Given the description of an element on the screen output the (x, y) to click on. 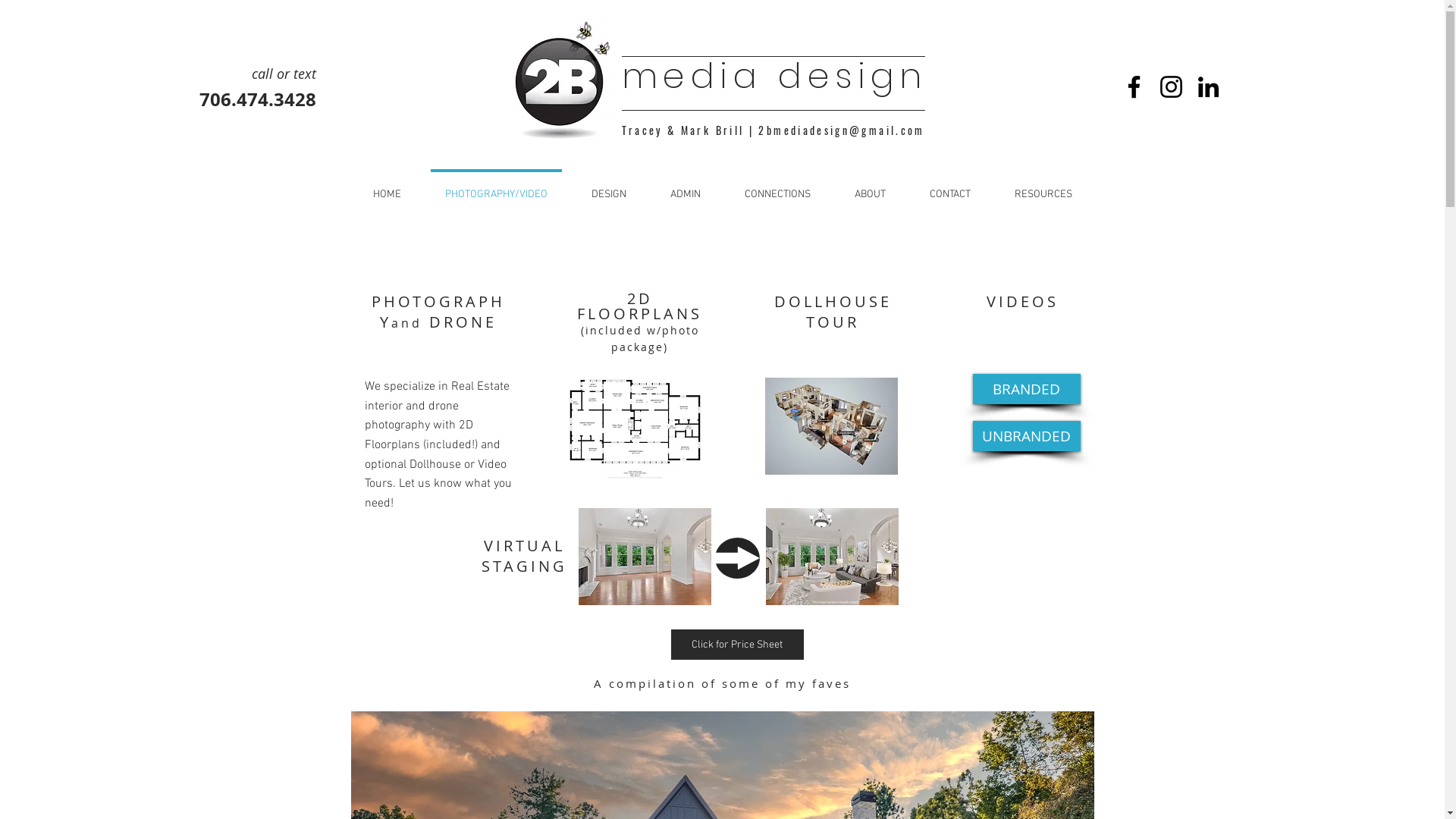
ABOUT Element type: text (869, 188)
2bmediadesign@gmail.com Element type: text (841, 130)
2B-LOGO-HORIZONTAL.jpg Element type: hover (561, 79)
HOME Element type: text (386, 188)
CONTACT Element type: text (948, 188)
Click for Price Sheet Element type: text (736, 644)
UNBRANDED Element type: text (1025, 435)
BRANDED Element type: text (1025, 388)
PHOTOGRAPHY/VIDEO Element type: text (496, 188)
